Given the description of an element on the screen output the (x, y) to click on. 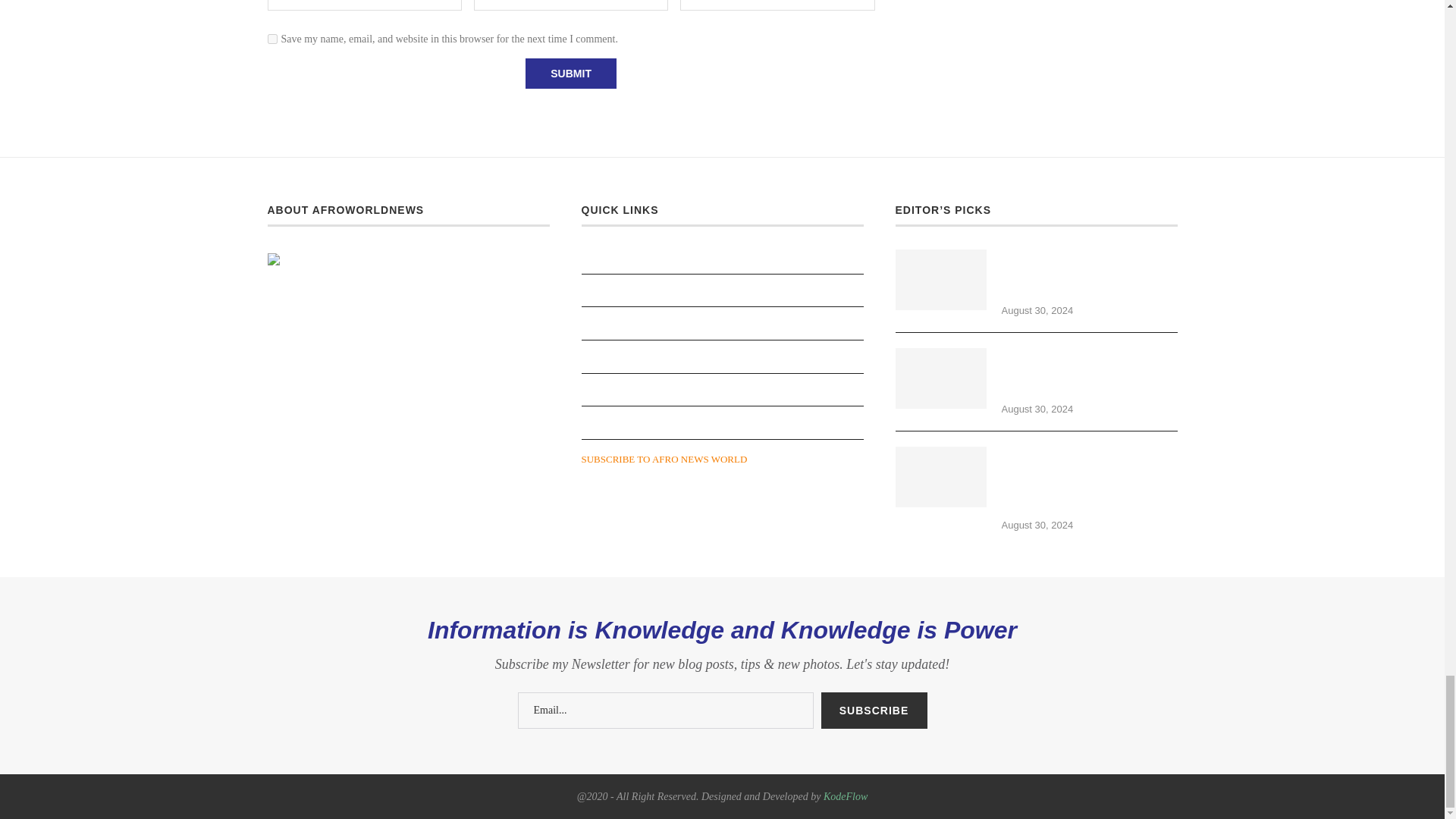
Subscribe (873, 710)
yes (271, 39)
Submit (570, 73)
